Given the description of an element on the screen output the (x, y) to click on. 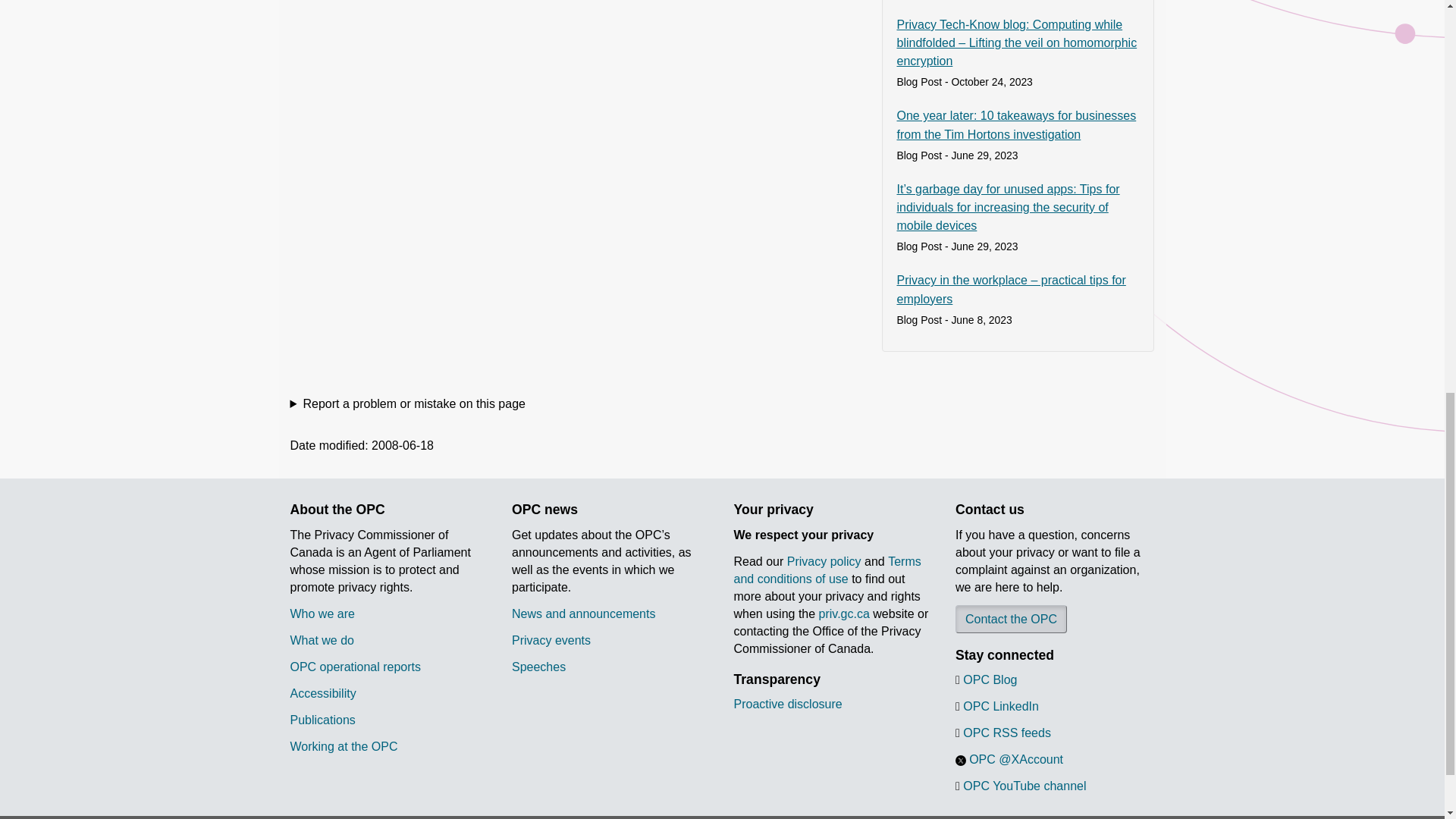
X Account (960, 760)
